Given the description of an element on the screen output the (x, y) to click on. 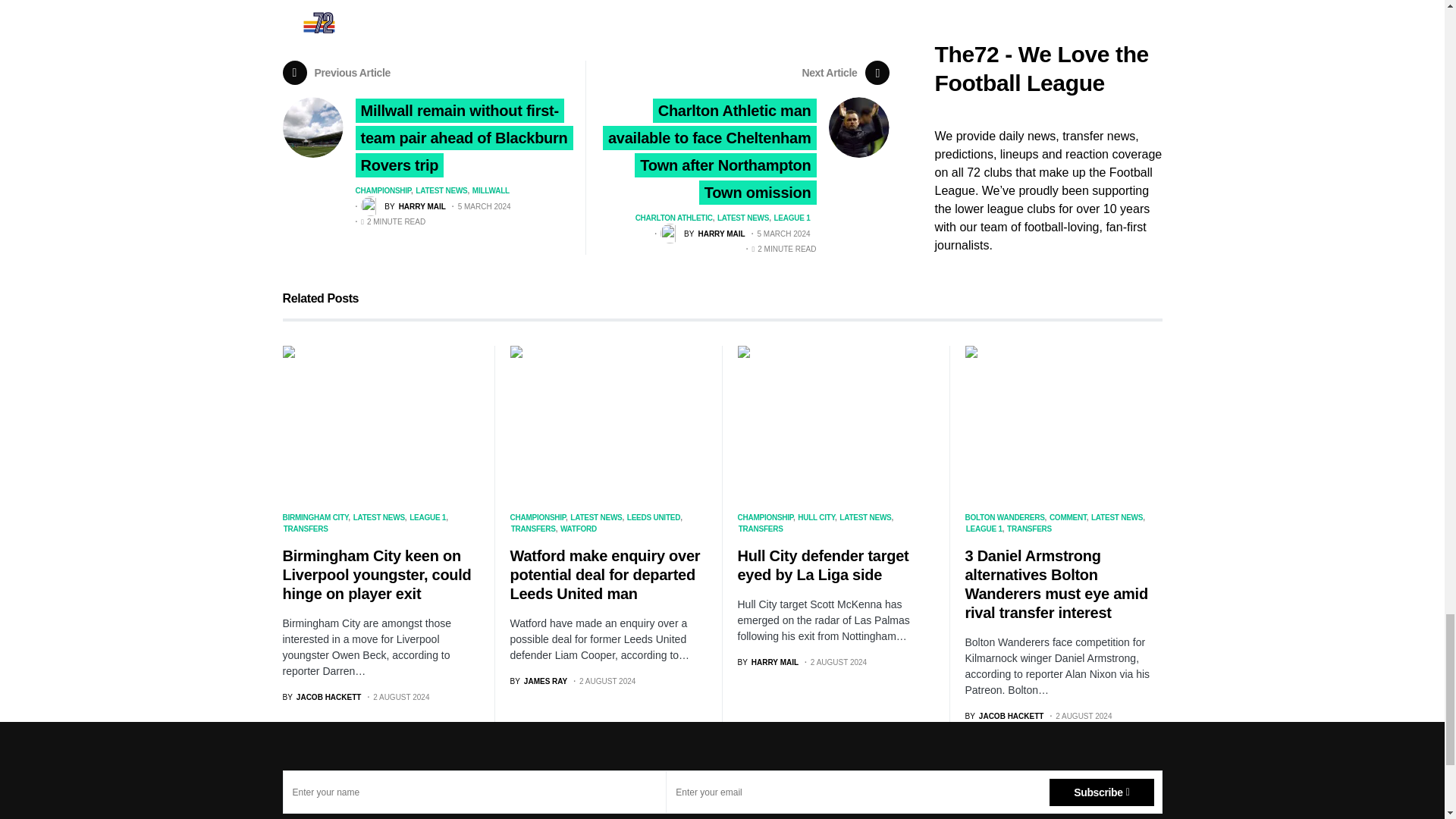
View all posts by James Ray (538, 681)
View all posts by Harry Mail (766, 662)
View all posts by Jacob Hackett (321, 696)
View all posts by Harry Mail (703, 233)
View all posts by Harry Mail (403, 206)
View all posts by Jacob Hackett (1003, 715)
